Given the description of an element on the screen output the (x, y) to click on. 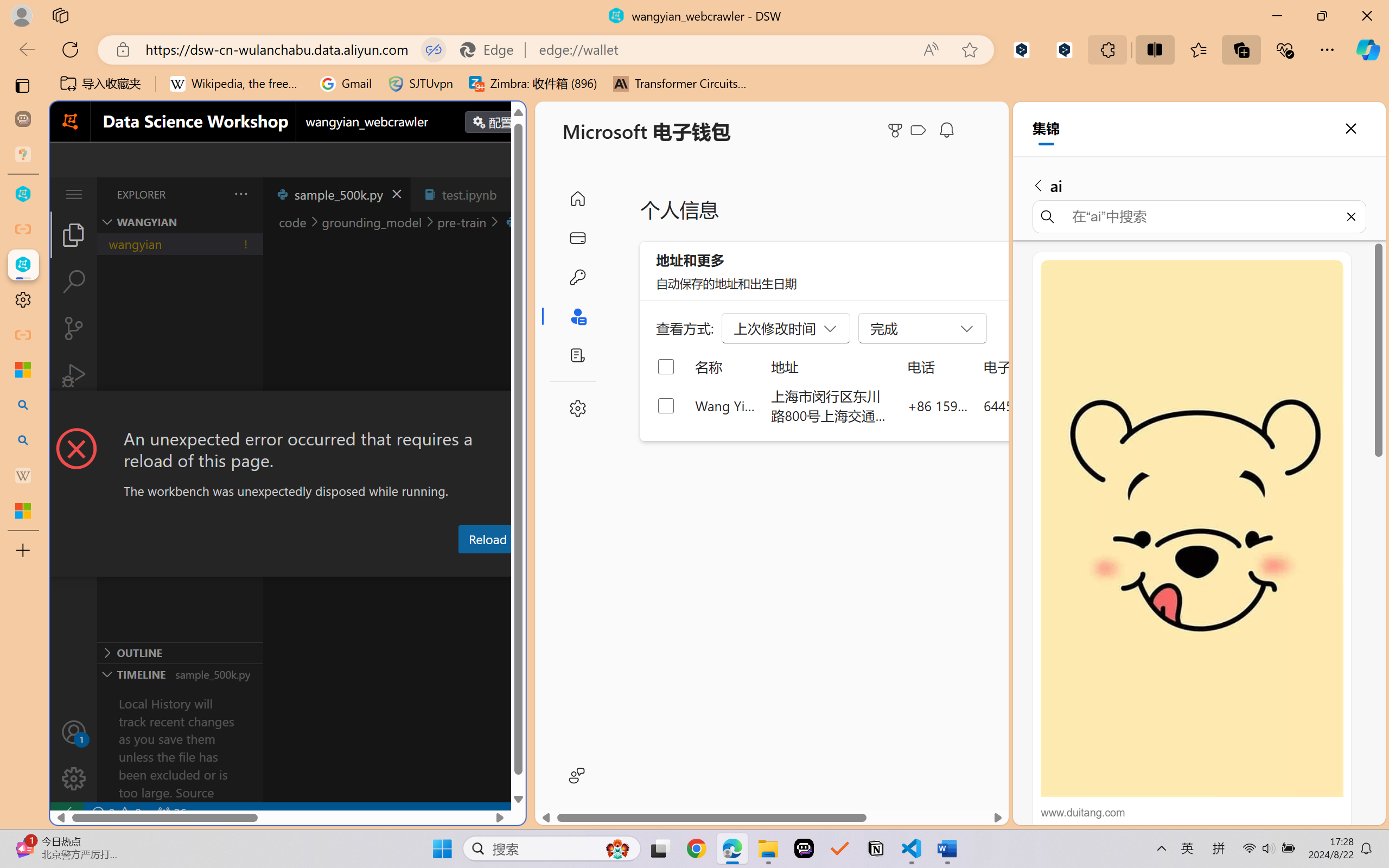
Output (Ctrl+Shift+U) (377, 565)
Source Control (Ctrl+Shift+G) (73, 328)
No Problems (115, 812)
Outline Section (179, 652)
wangyian_dsw - DSW (22, 194)
